Given the description of an element on the screen output the (x, y) to click on. 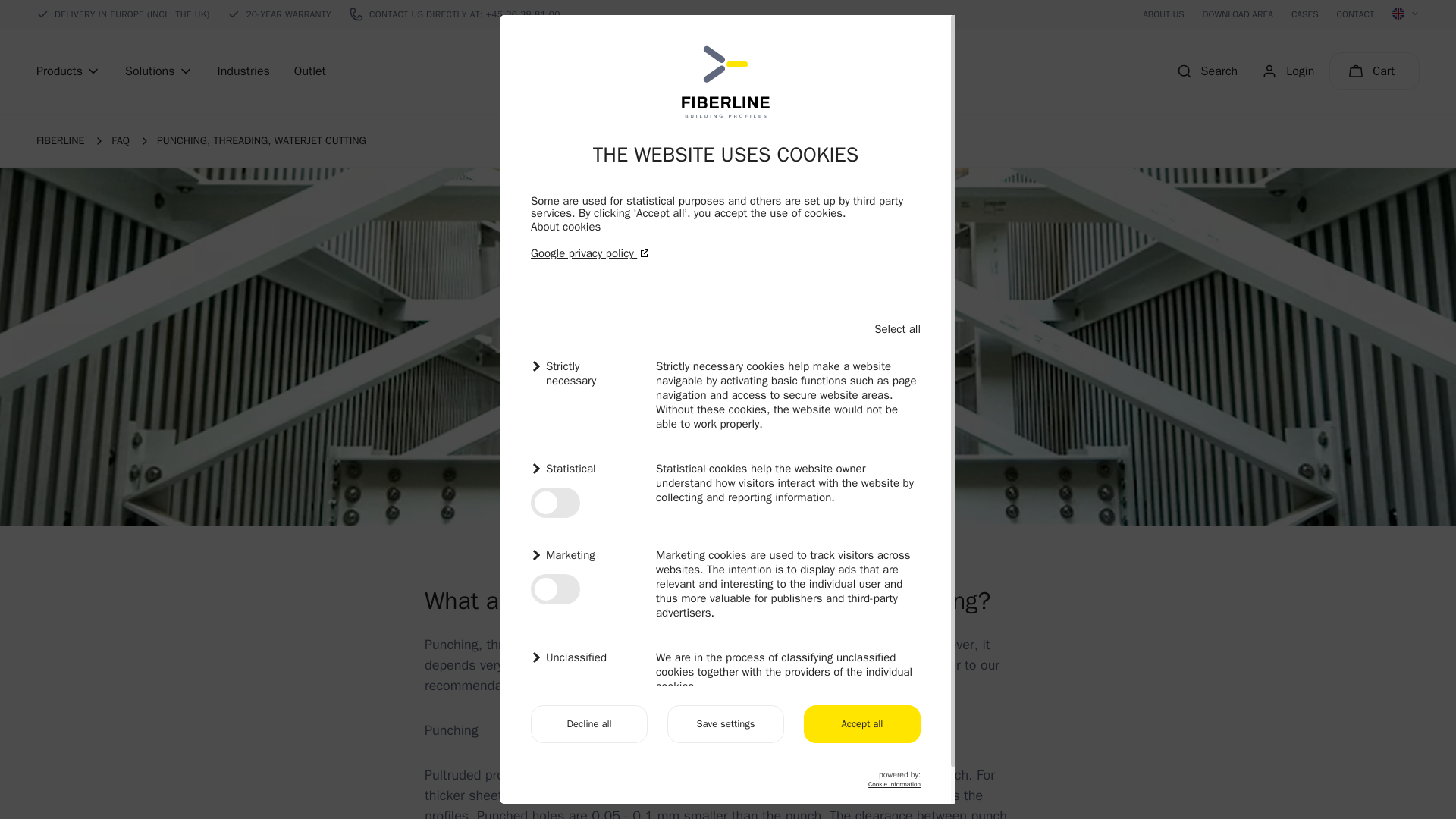
Google privacy policy (725, 253)
Marketing (584, 555)
About cookies (565, 226)
Strictly necessary (584, 373)
Statistical (584, 468)
Select all (897, 329)
